Given the description of an element on the screen output the (x, y) to click on. 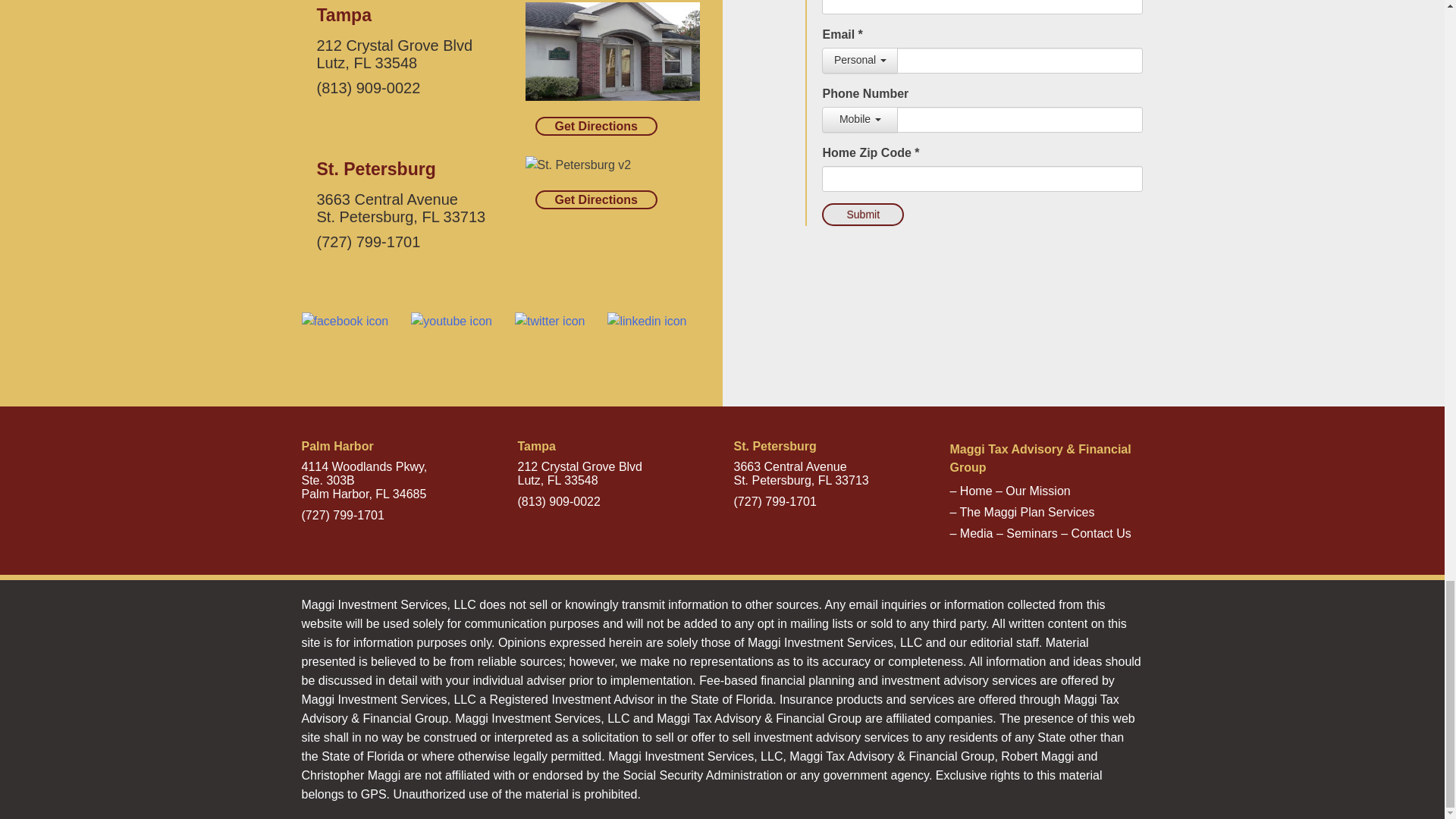
Submit (863, 214)
